Given the description of an element on the screen output the (x, y) to click on. 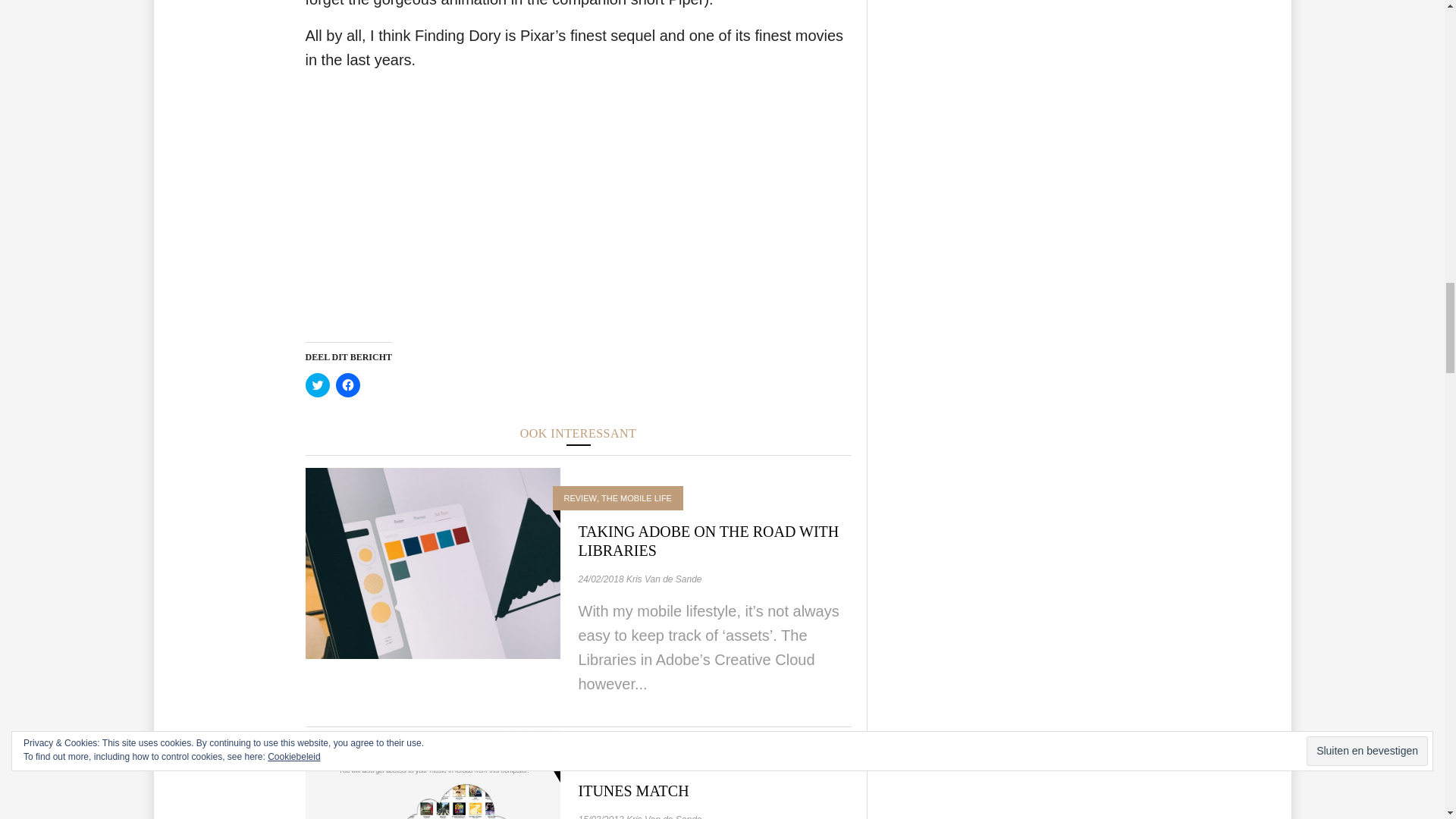
Berichten van Kris Van de Sande (663, 816)
Klik om te delen met Twitter (316, 385)
iTunes Match (633, 790)
Taking Adobe on the road with Libraries (431, 562)
Berichten van Kris Van de Sande (663, 579)
iTunes Match (431, 815)
Klik om te delen op Facebook (346, 385)
Taking Adobe on the road with Libraries (708, 540)
